Given the description of an element on the screen output the (x, y) to click on. 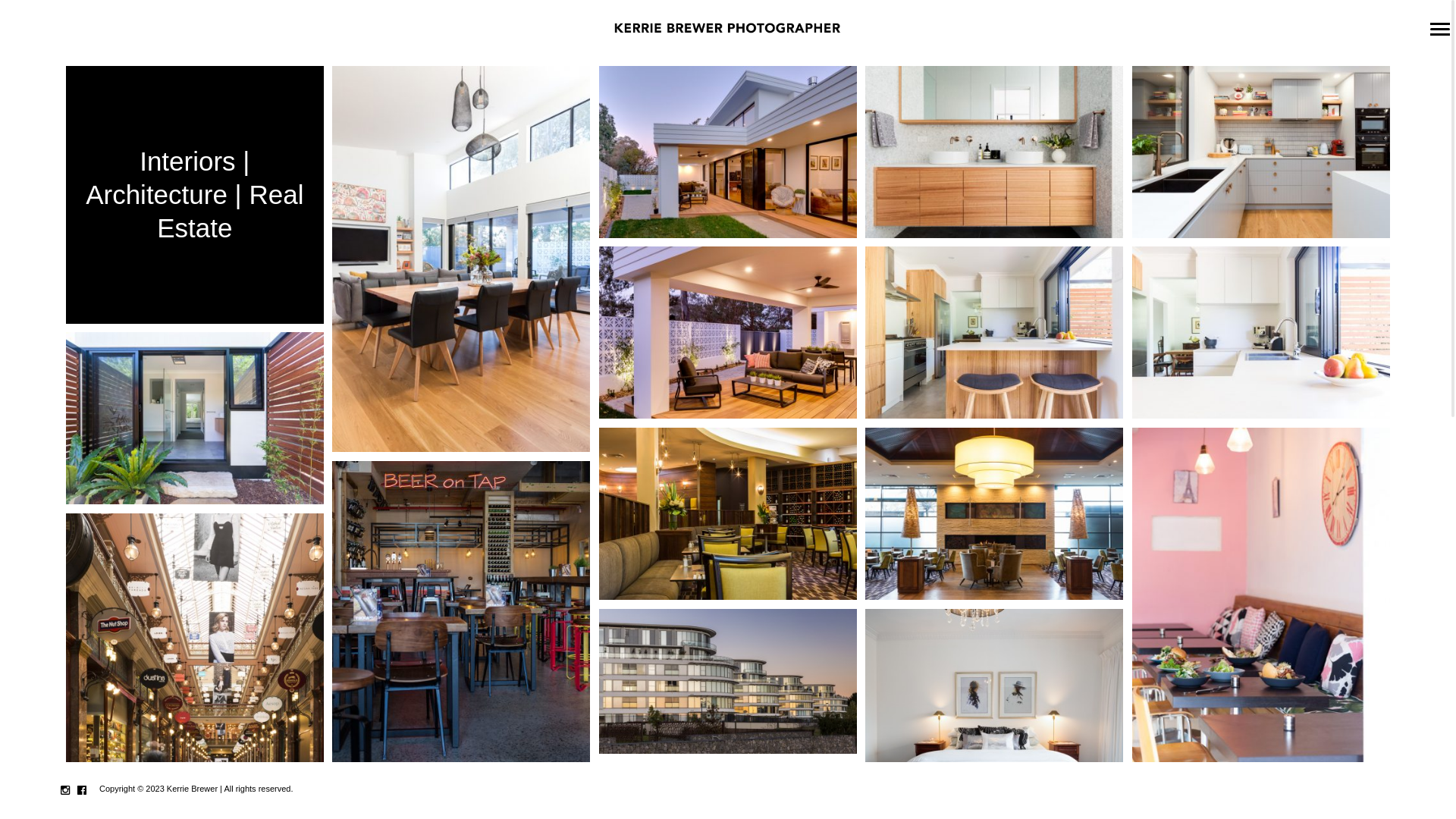
Kerrie Brewer Photographer Element type: hover (727, 28)
Interiors | Architecture | Real Estate Element type: text (194, 194)
instagram Element type: text (64, 790)
facebook Element type: text (81, 790)
